Given the description of an element on the screen output the (x, y) to click on. 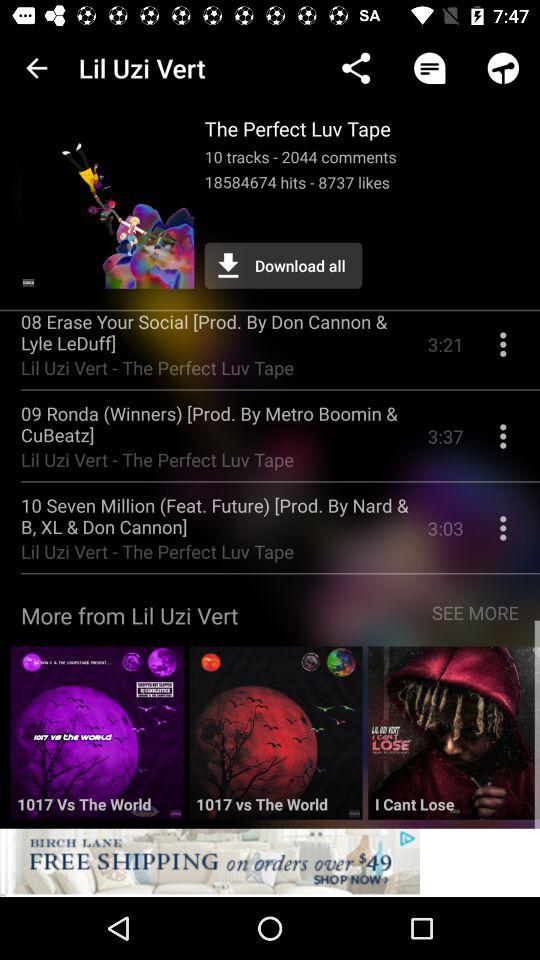
click to hear the song (96, 740)
